Given the description of an element on the screen output the (x, y) to click on. 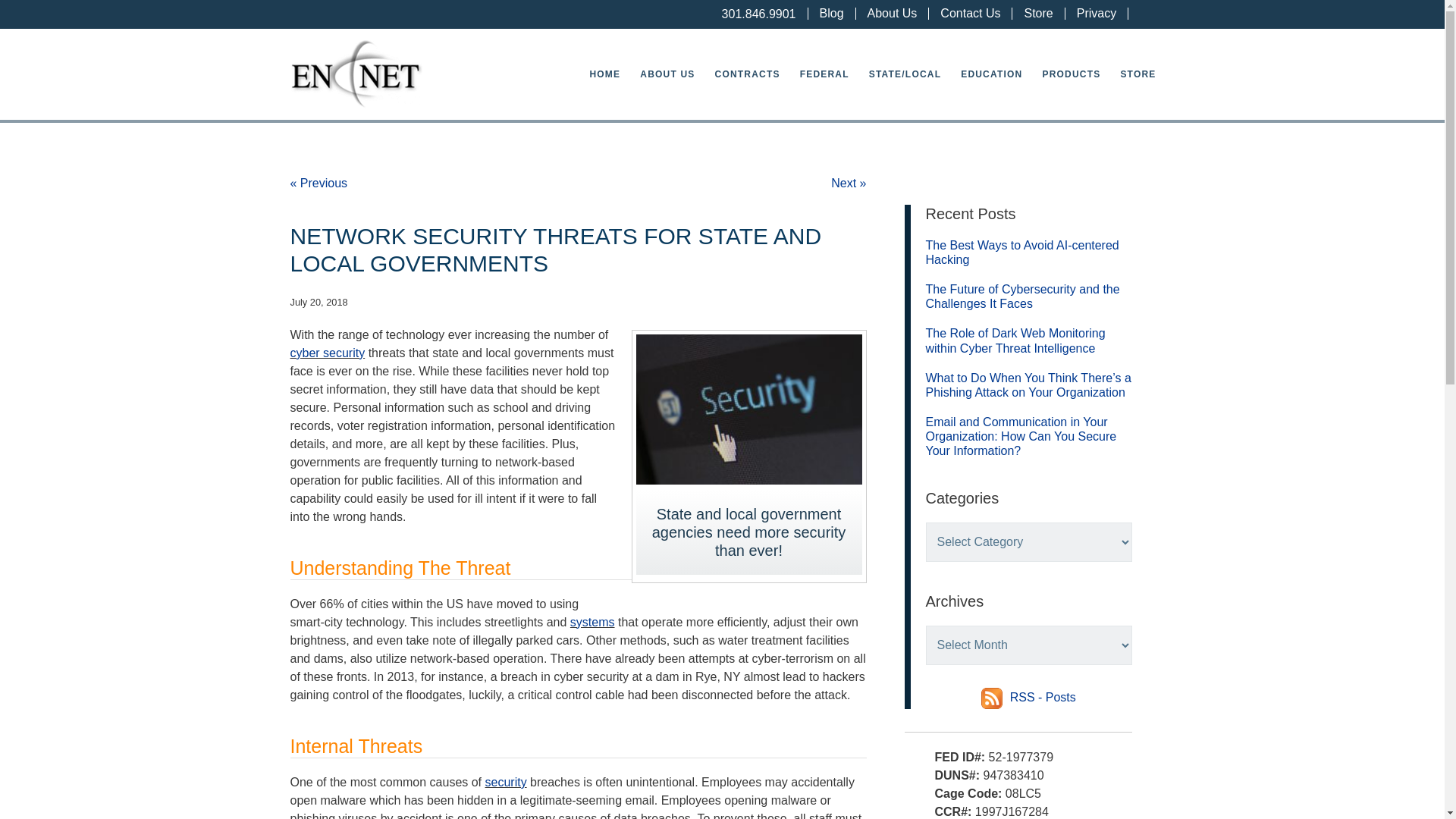
cyber security (327, 352)
CONTRACTS (747, 74)
systems (592, 621)
PRODUCTS (1070, 74)
En-Net (355, 74)
EDUCATION (991, 74)
301.846.9901 (752, 13)
Privacy (1096, 12)
STORE (1137, 74)
About Us (892, 12)
